Given the description of an element on the screen output the (x, y) to click on. 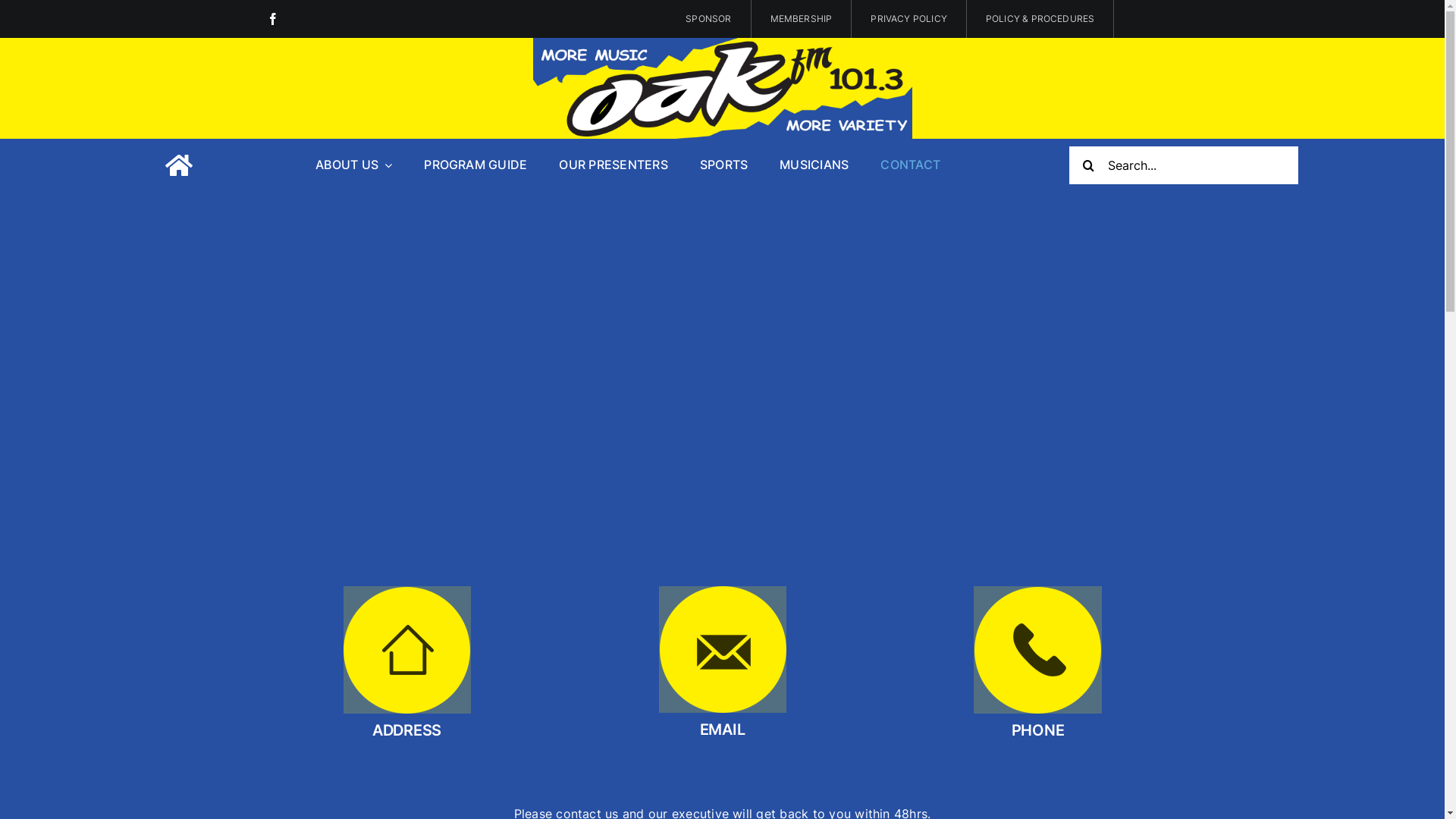
PRIVACY POLICY Element type: text (908, 18)
icnn2 Element type: hover (721, 649)
POLICY & PROCEDURES Element type: text (1039, 18)
PROGRAM GUIDE Element type: text (475, 164)
icnn3 Element type: hover (1037, 649)
SPONSOR Element type: text (708, 18)
ABOUT US Element type: text (353, 164)
CONTACT Element type: text (910, 164)
MUSICIANS Element type: text (813, 164)
OUR PRESENTERS Element type: text (612, 164)
icnn1 Element type: hover (406, 649)
SPORTS Element type: text (723, 164)
MEMBERSHIP Element type: text (801, 18)
